Given the description of an element on the screen output the (x, y) to click on. 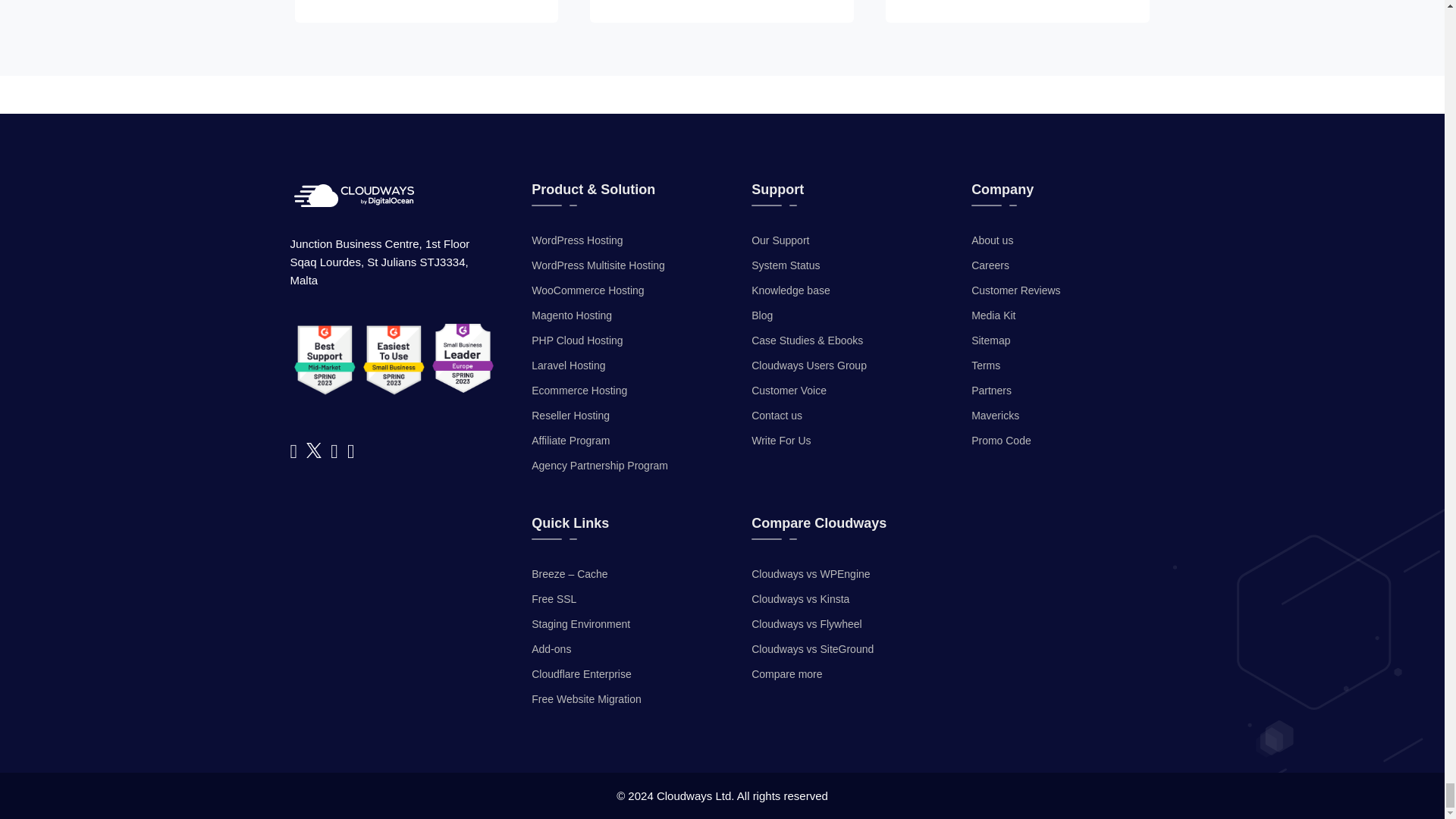
Magento Hosting (571, 315)
Cloudways is a leader in WebOps Platforms on G2 (462, 358)
Wordpress Hosting (577, 240)
Knowledge base (790, 290)
 Contact us (776, 415)
